Given the description of an element on the screen output the (x, y) to click on. 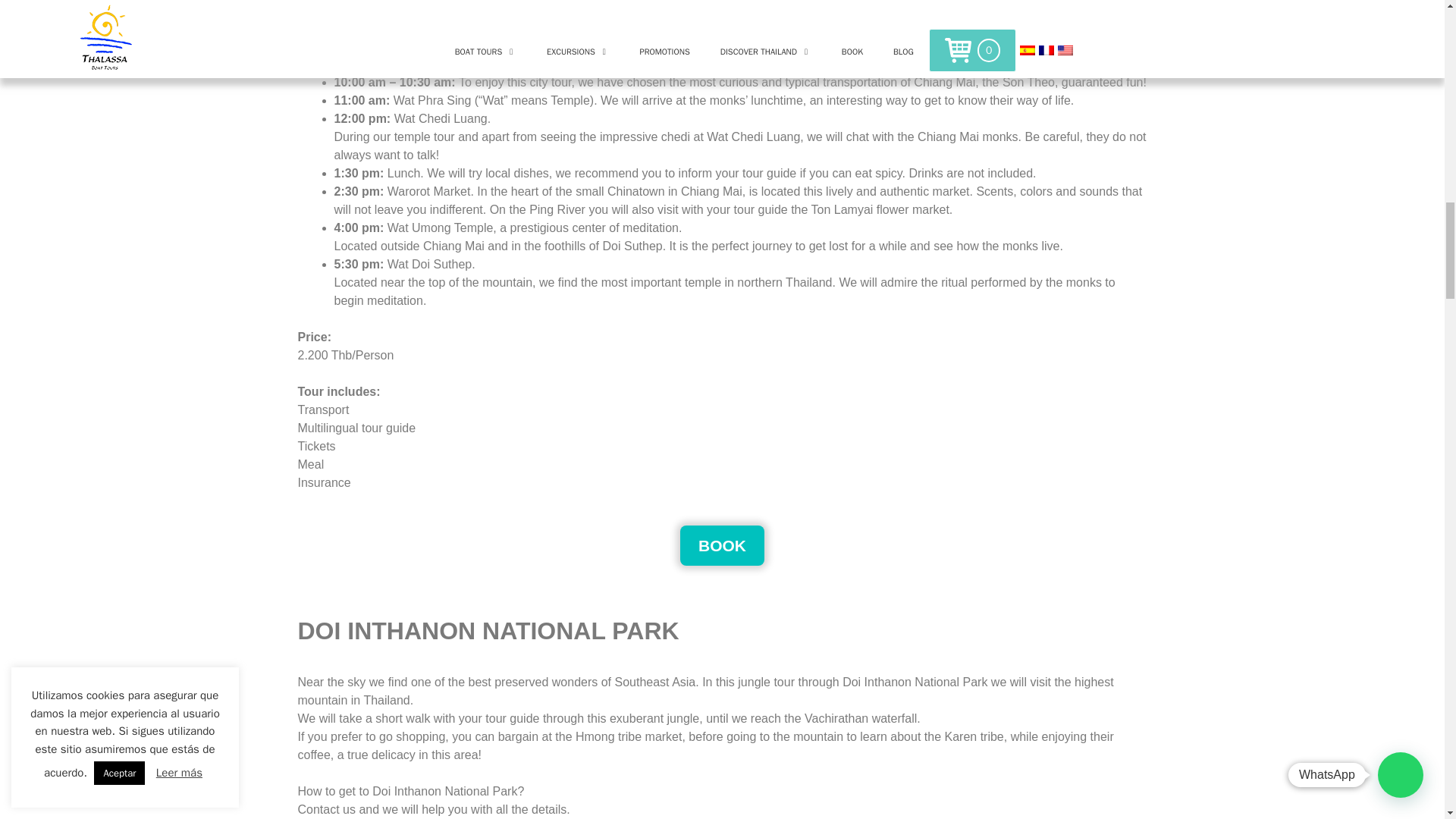
BOOK (721, 544)
